Given the description of an element on the screen output the (x, y) to click on. 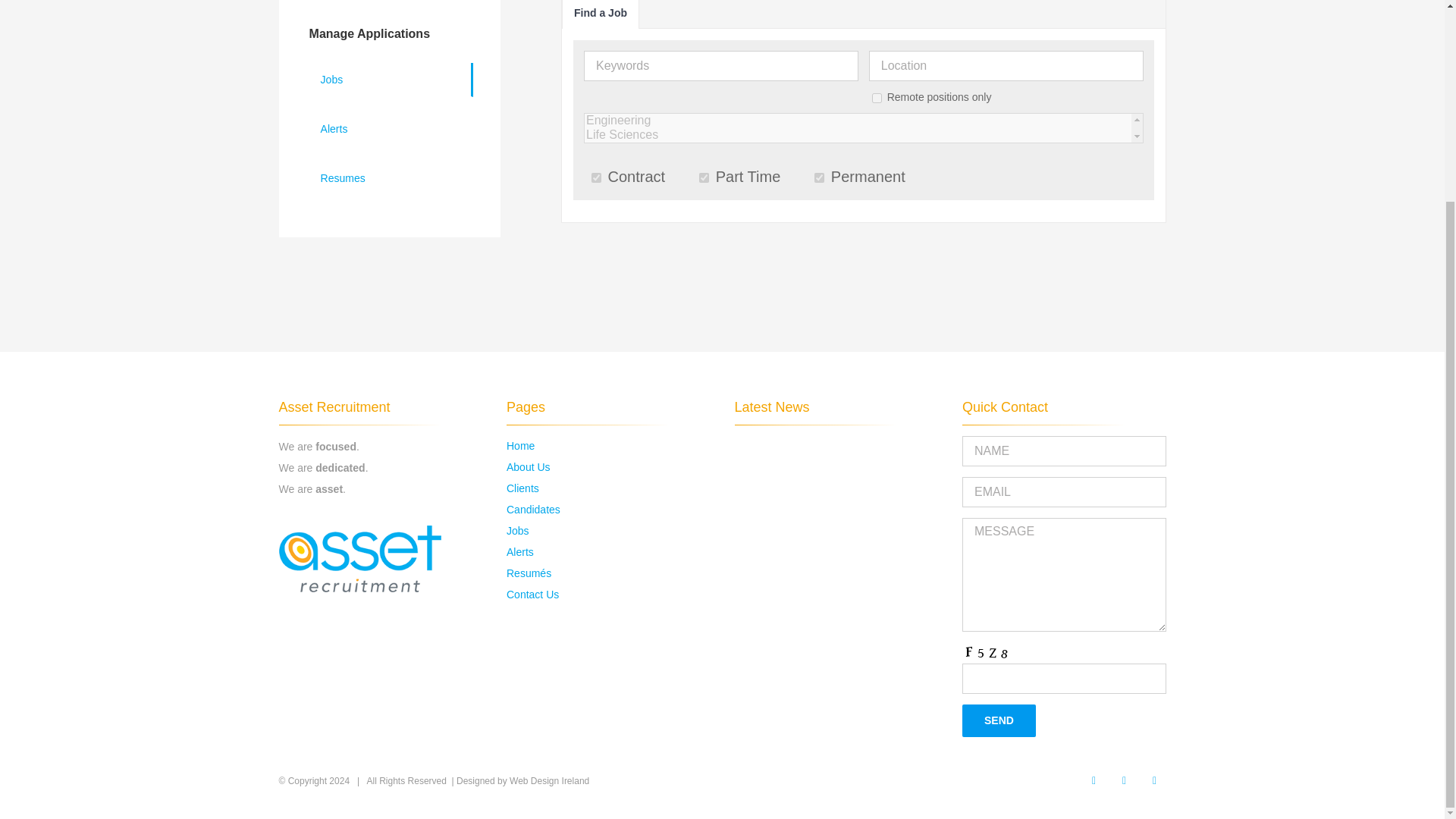
Candidates (533, 509)
Find a Job (600, 14)
LinkedIn (1124, 780)
Alerts (389, 129)
part-time (703, 177)
Resumes (389, 178)
permanent (818, 177)
Alerts (520, 551)
About Us (528, 467)
